Given the description of an element on the screen output the (x, y) to click on. 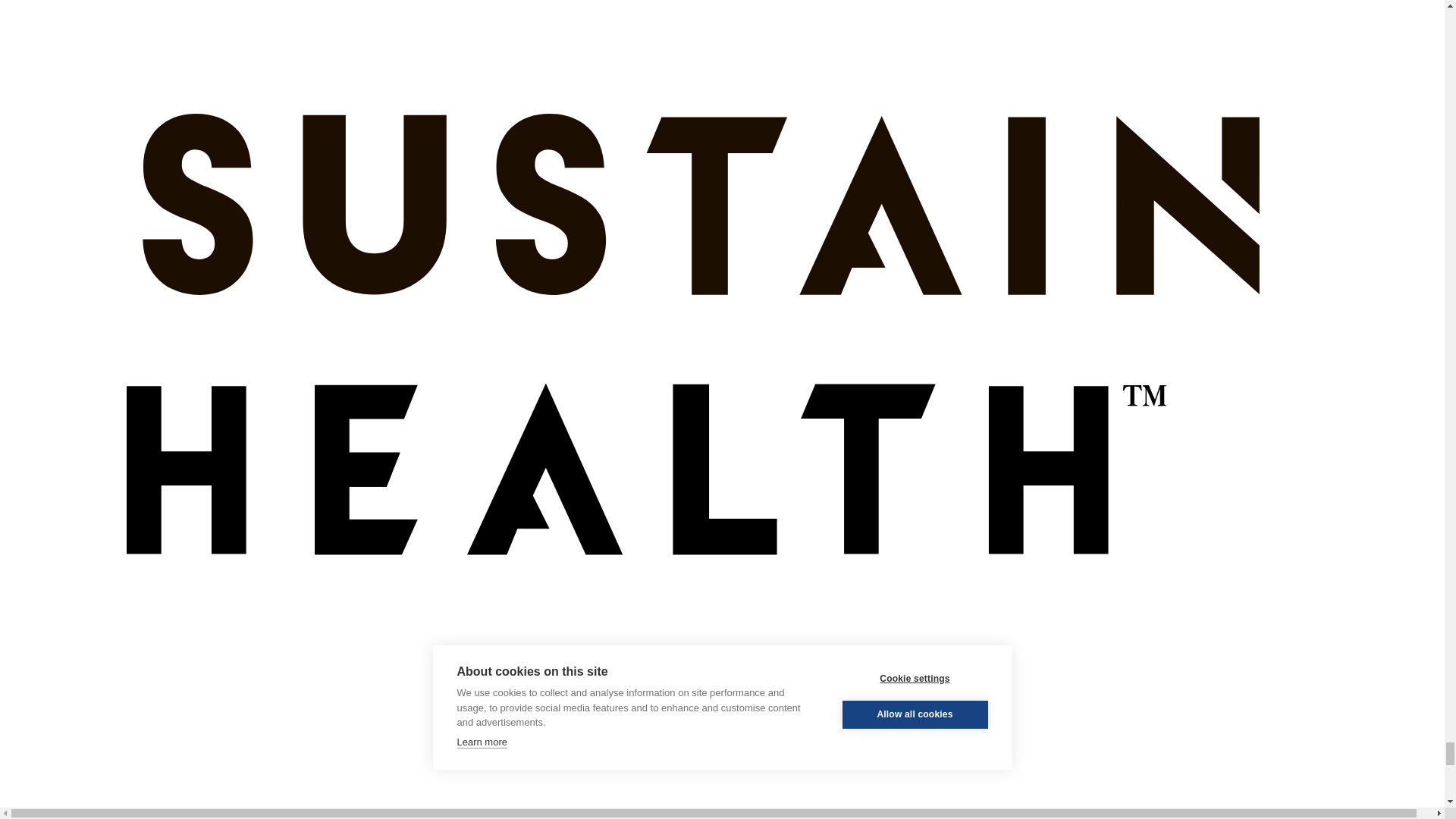
Tom's Guide (721, 801)
